Given the description of an element on the screen output the (x, y) to click on. 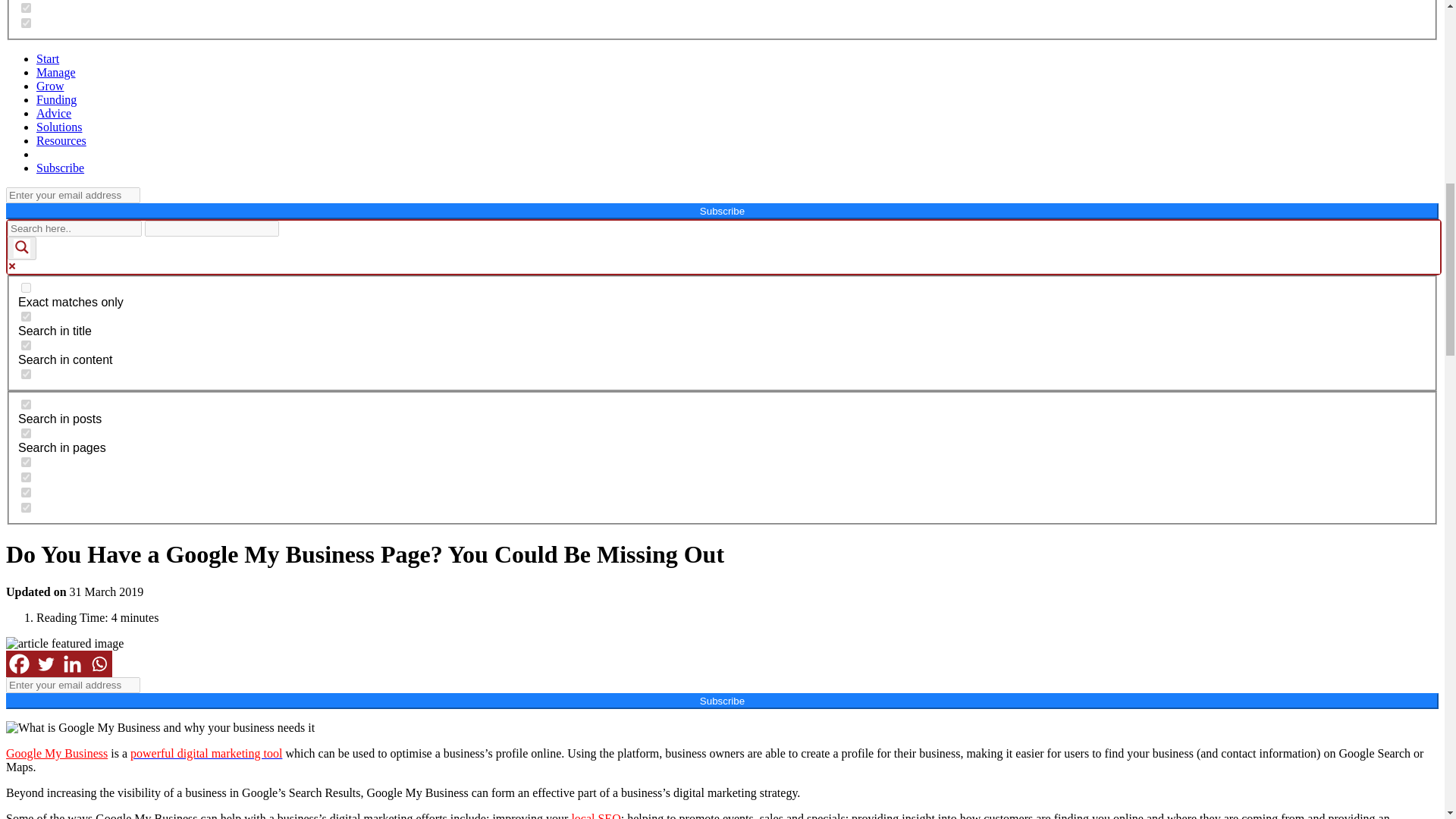
Grow (50, 85)
Start (47, 58)
Linkedin (72, 663)
Advice (53, 113)
excerpt (25, 374)
Resources (60, 140)
local SEO (595, 815)
Google My Business (56, 753)
post (25, 404)
Twitter (45, 663)
Funding (56, 99)
brands (25, 22)
Subscribe (60, 167)
powerful digital marketing tool (206, 753)
Solutions (58, 126)
